Given the description of an element on the screen output the (x, y) to click on. 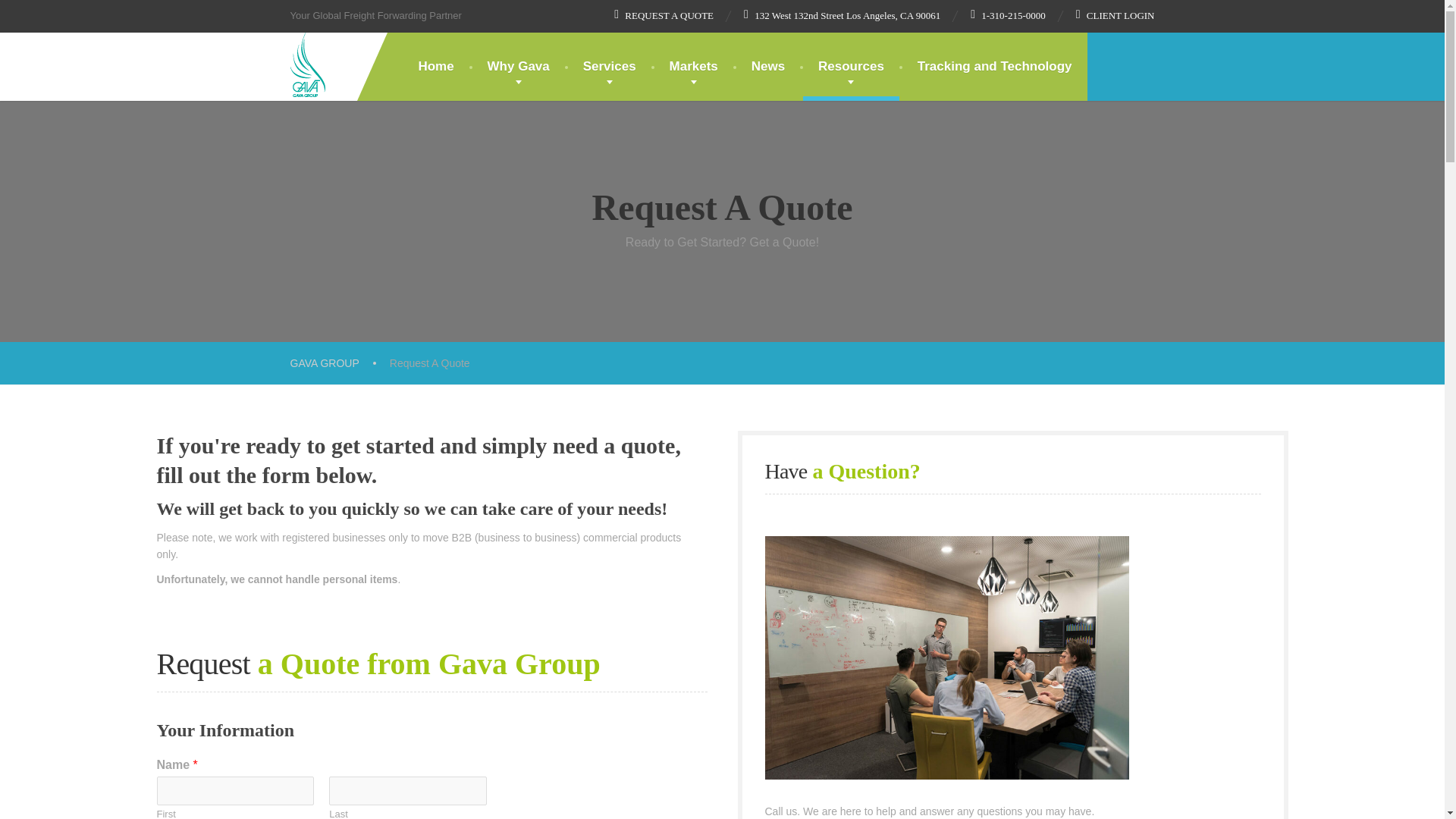
News (767, 66)
Services (608, 66)
CLIENT LOGIN (1114, 15)
Tracking and Technology (994, 66)
REQUEST A QUOTE (663, 15)
Resources (851, 66)
Markets (693, 66)
Home (435, 66)
1-310-215-0000 (1008, 15)
Why Gava (517, 66)
